Given the description of an element on the screen output the (x, y) to click on. 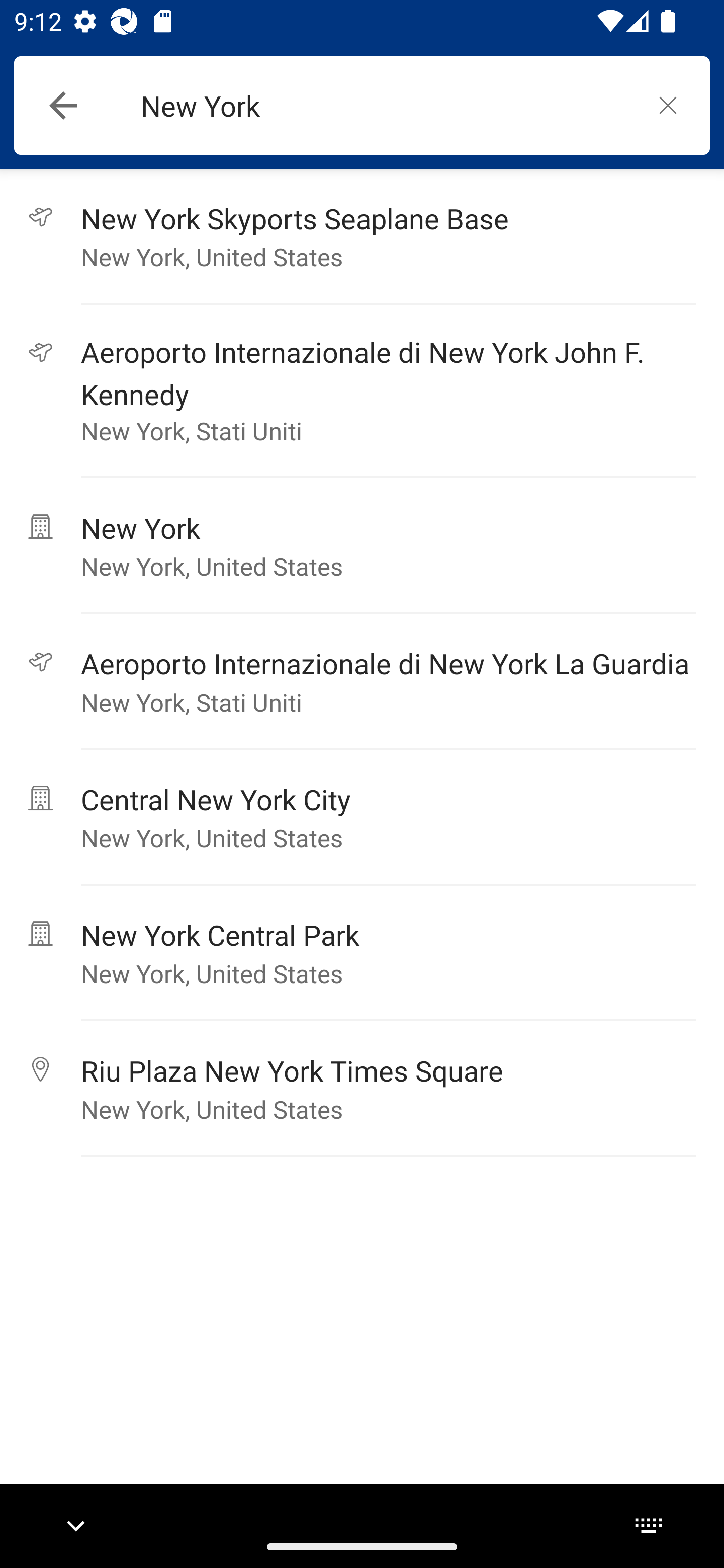
Navigate up (62, 105)
놕 (667, 104)
New York (382, 105)
넭 New York New York, United States (362, 546)
넭 Central New York City New York, United States (362, 817)
넭 New York Central Park New York, United States (362, 952)
